Given the description of an element on the screen output the (x, y) to click on. 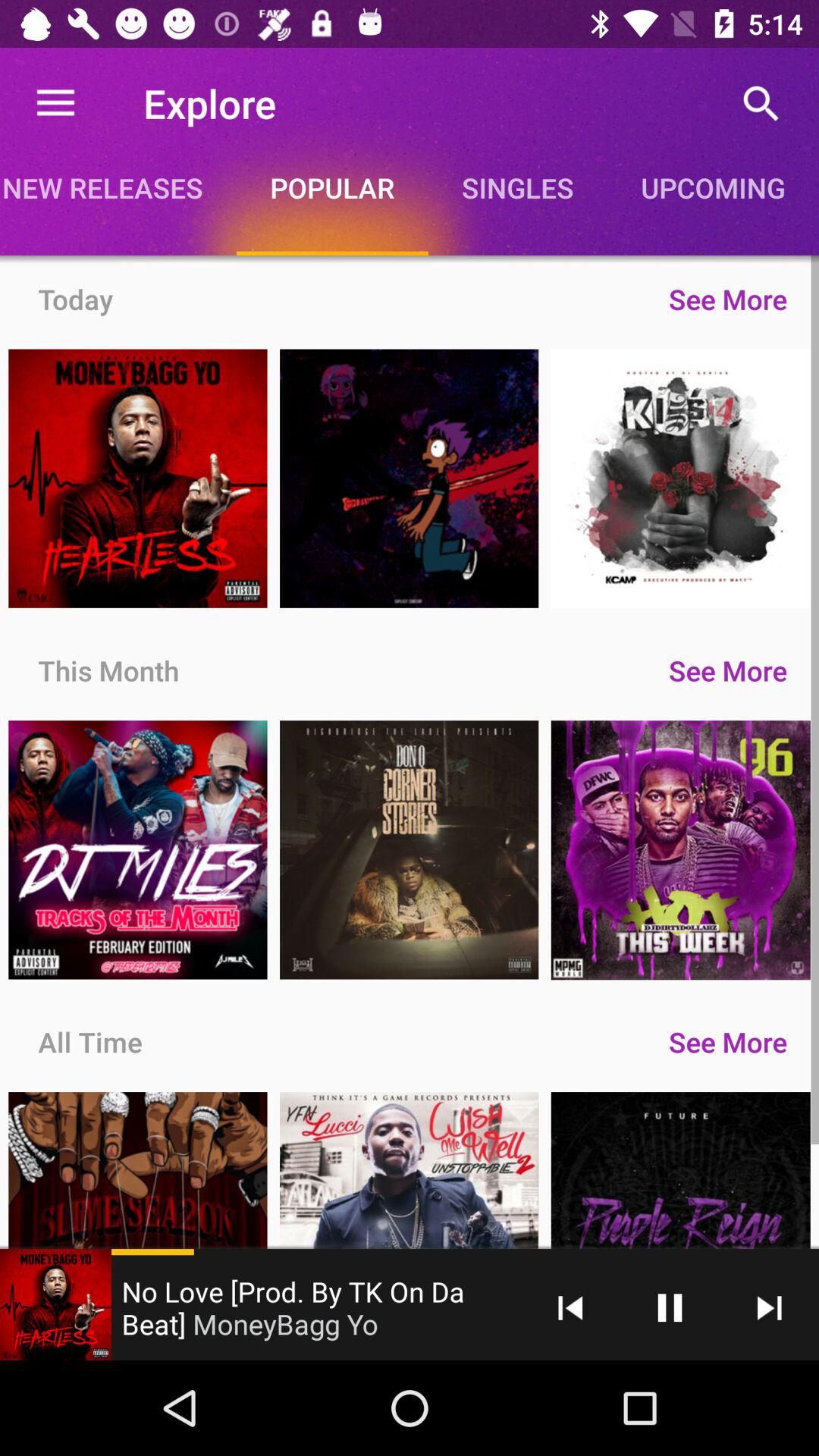
choose new releases icon (118, 187)
